Given the description of an element on the screen output the (x, y) to click on. 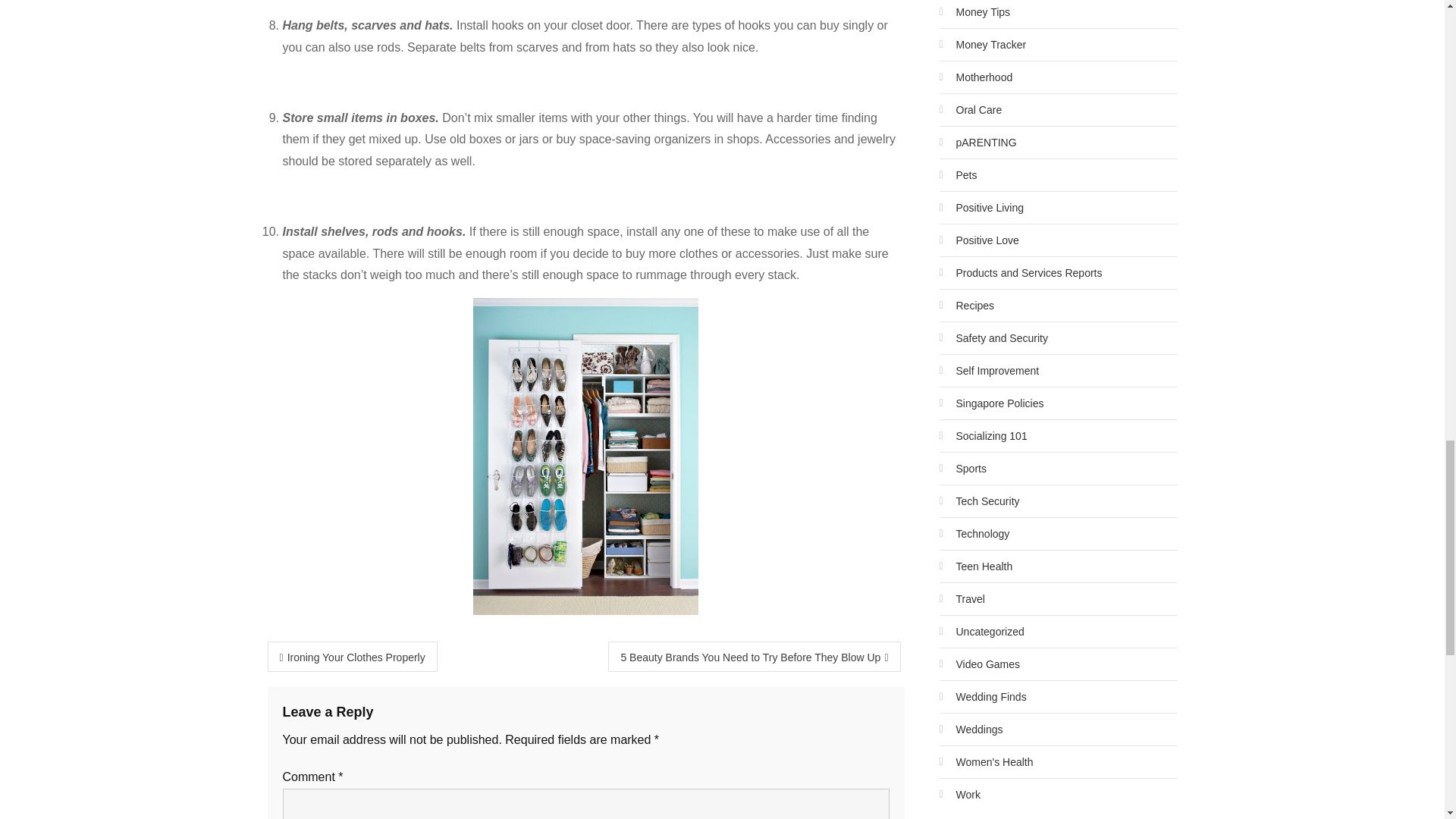
5 Beauty Brands You Need to Try Before They Blow Up (753, 656)
Ironing Your Clothes Properly (351, 656)
